Given the description of an element on the screen output the (x, y) to click on. 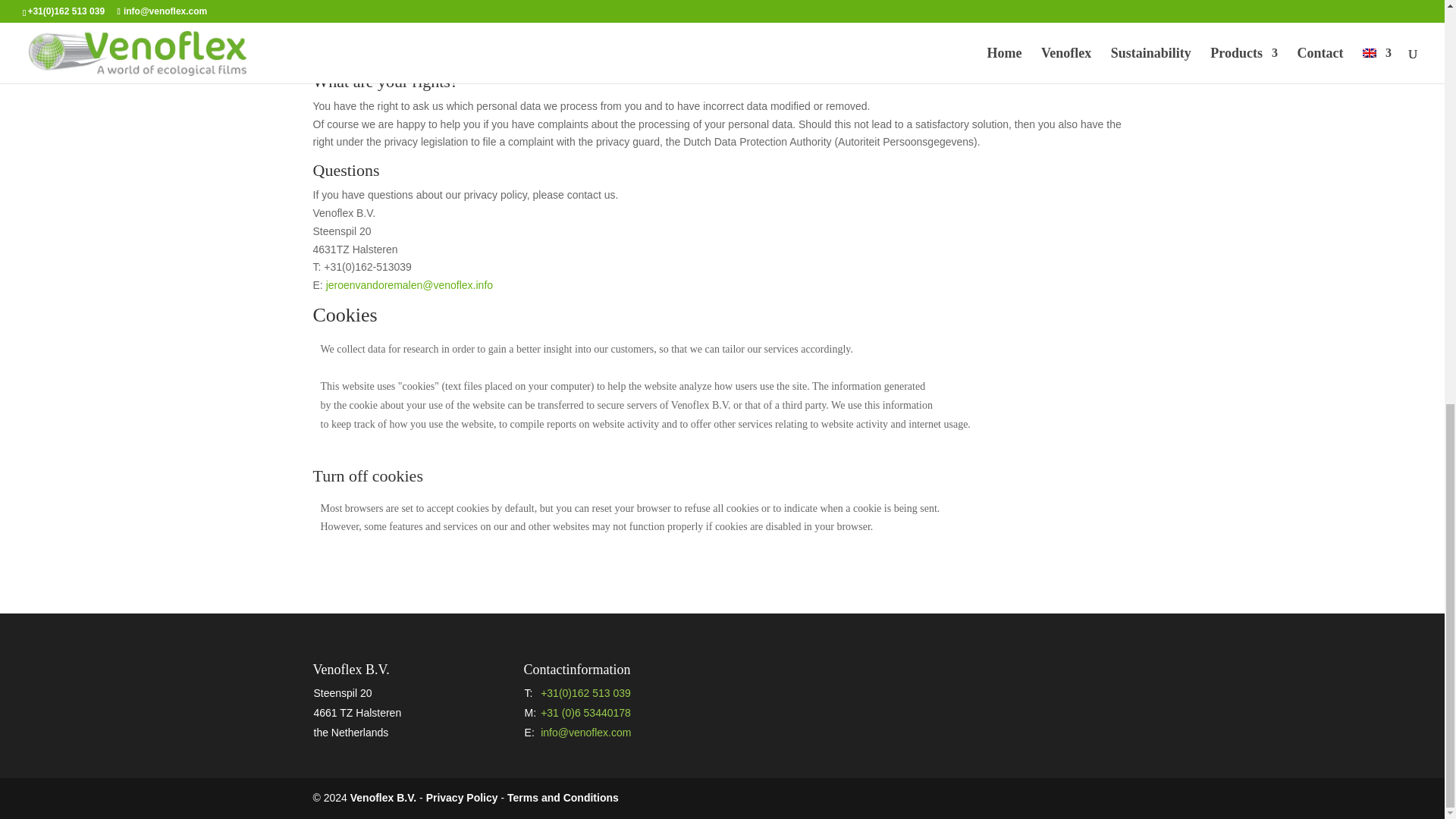
Terms and Conditions (562, 797)
Venoflex B.V. (383, 797)
Venoflex B.V. (383, 797)
Privacy Policy (461, 797)
